Given the description of an element on the screen output the (x, y) to click on. 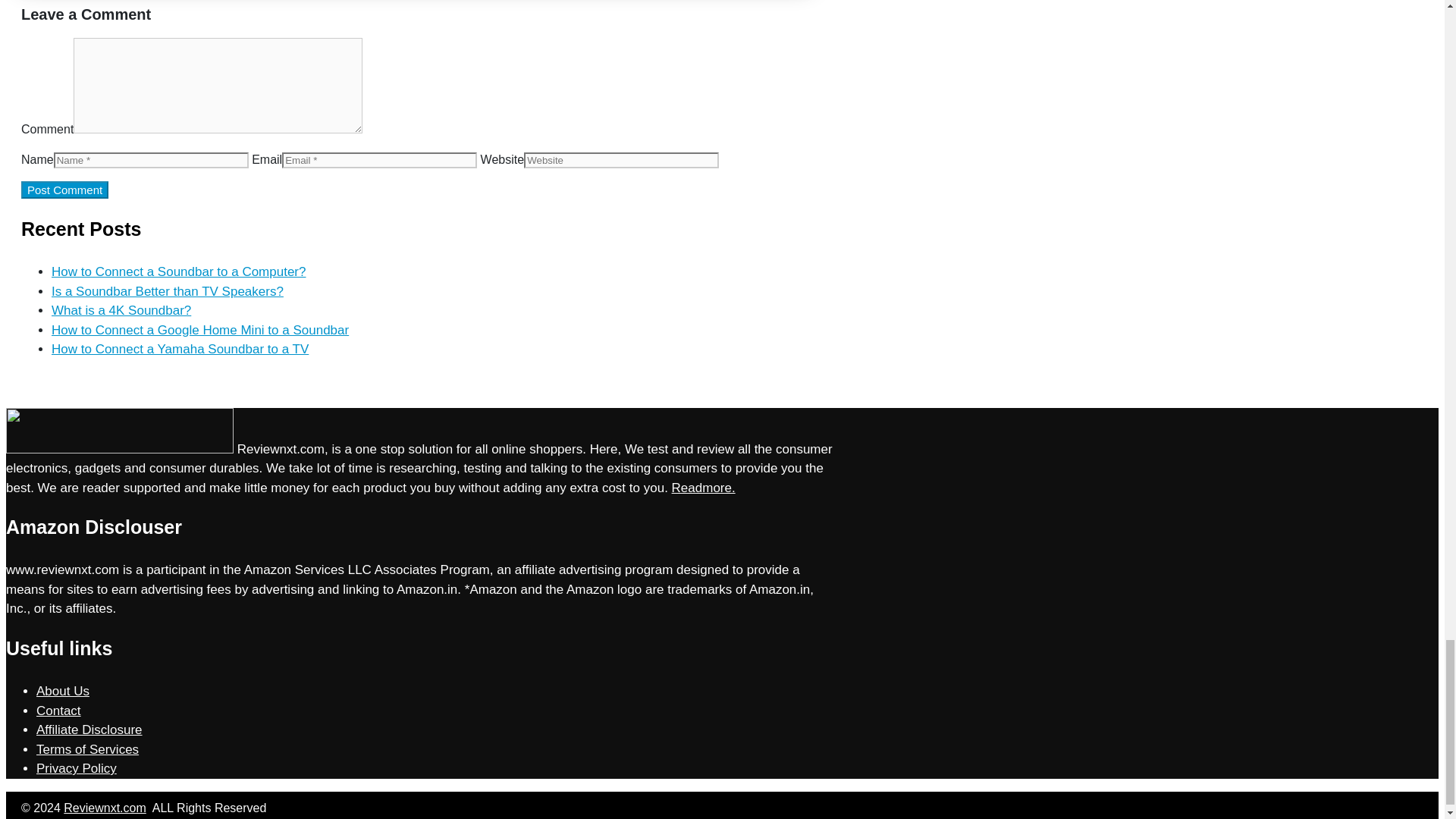
Is a Soundbar Better than TV Speakers? (166, 291)
Post Comment (64, 189)
Privacy Policy (76, 768)
About Us (62, 690)
How to Connect a Soundbar to a Computer? (177, 271)
Terms of Services (87, 749)
Reviewnxt.com (104, 807)
How to Connect a Google Home Mini to a Soundbar (199, 329)
What is a 4K Soundbar? (120, 310)
Contact (58, 710)
How to Connect a Yamaha Soundbar to a TV (179, 349)
Affiliate Disclosure (89, 729)
Post Comment (64, 189)
Readmore. (703, 487)
